Given the description of an element on the screen output the (x, y) to click on. 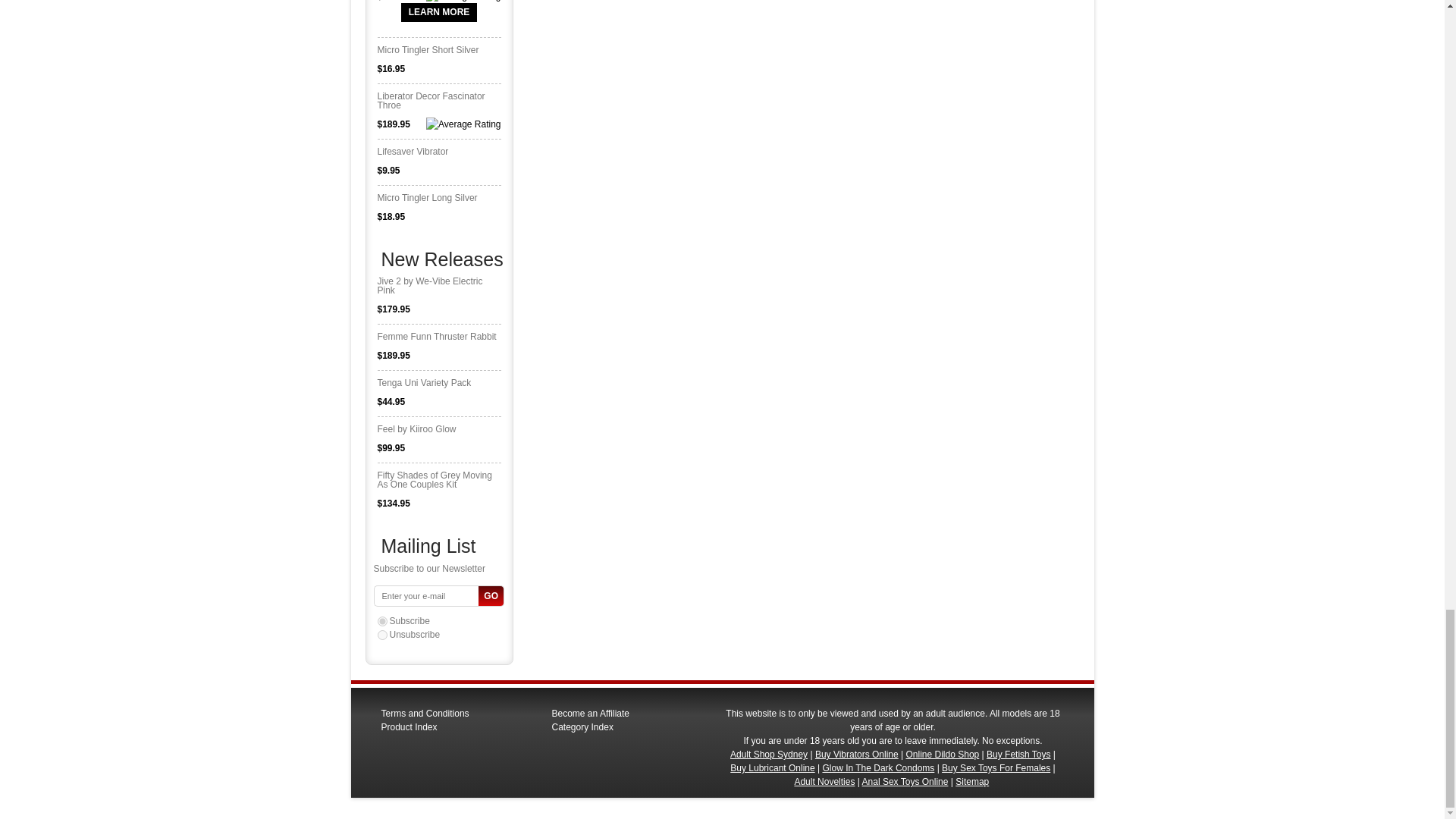
GO (492, 595)
0 (382, 634)
1 (382, 621)
